Given the description of an element on the screen output the (x, y) to click on. 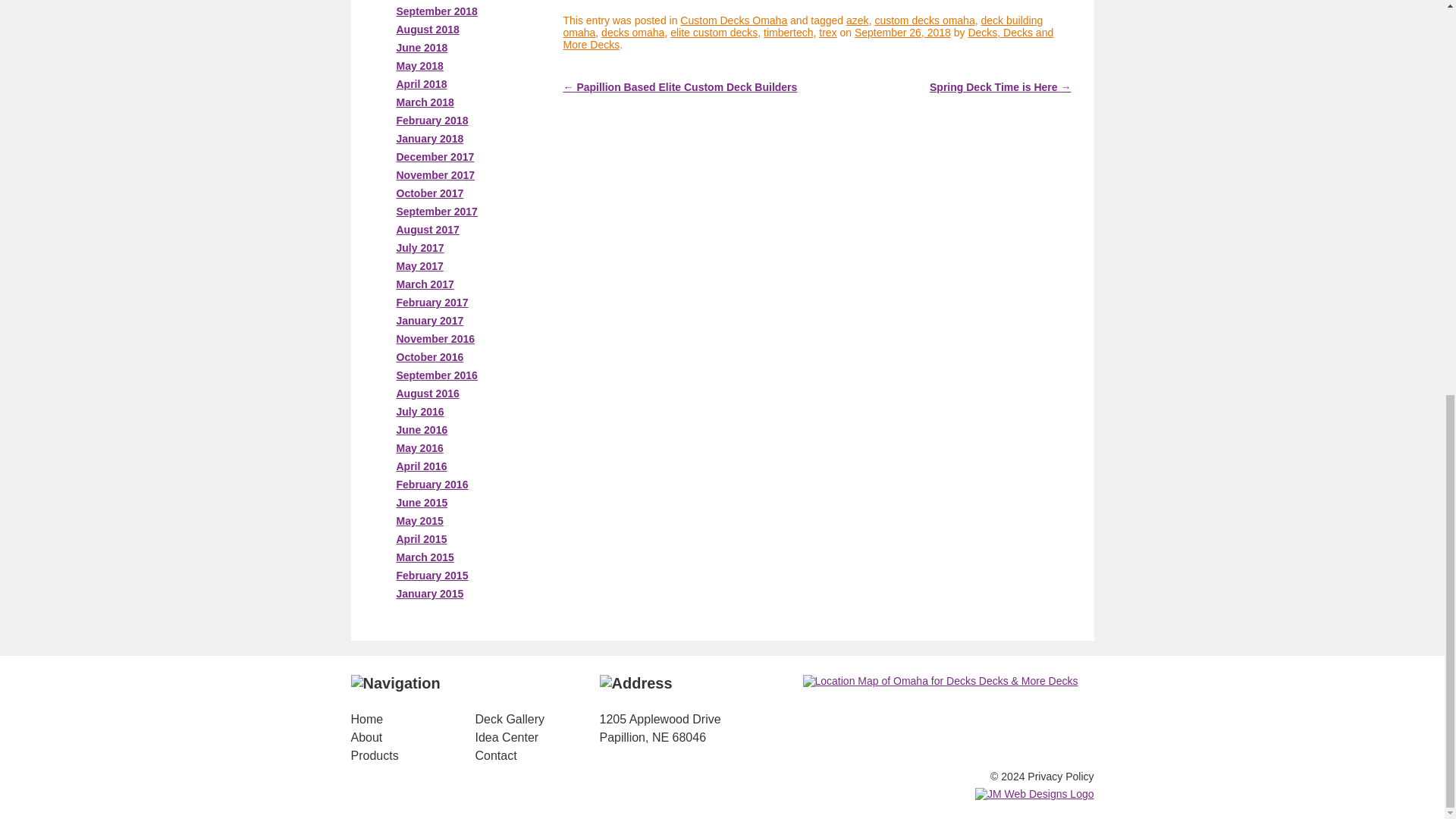
Site Navigation (394, 683)
5:20 pm (902, 32)
Our Address: 1205 Applewood Dr. Papillion, NE 68046 (634, 683)
View all posts by Decks, Decks and More Decks (807, 38)
JM Web Designs Logo (1034, 793)
